Given the description of an element on the screen output the (x, y) to click on. 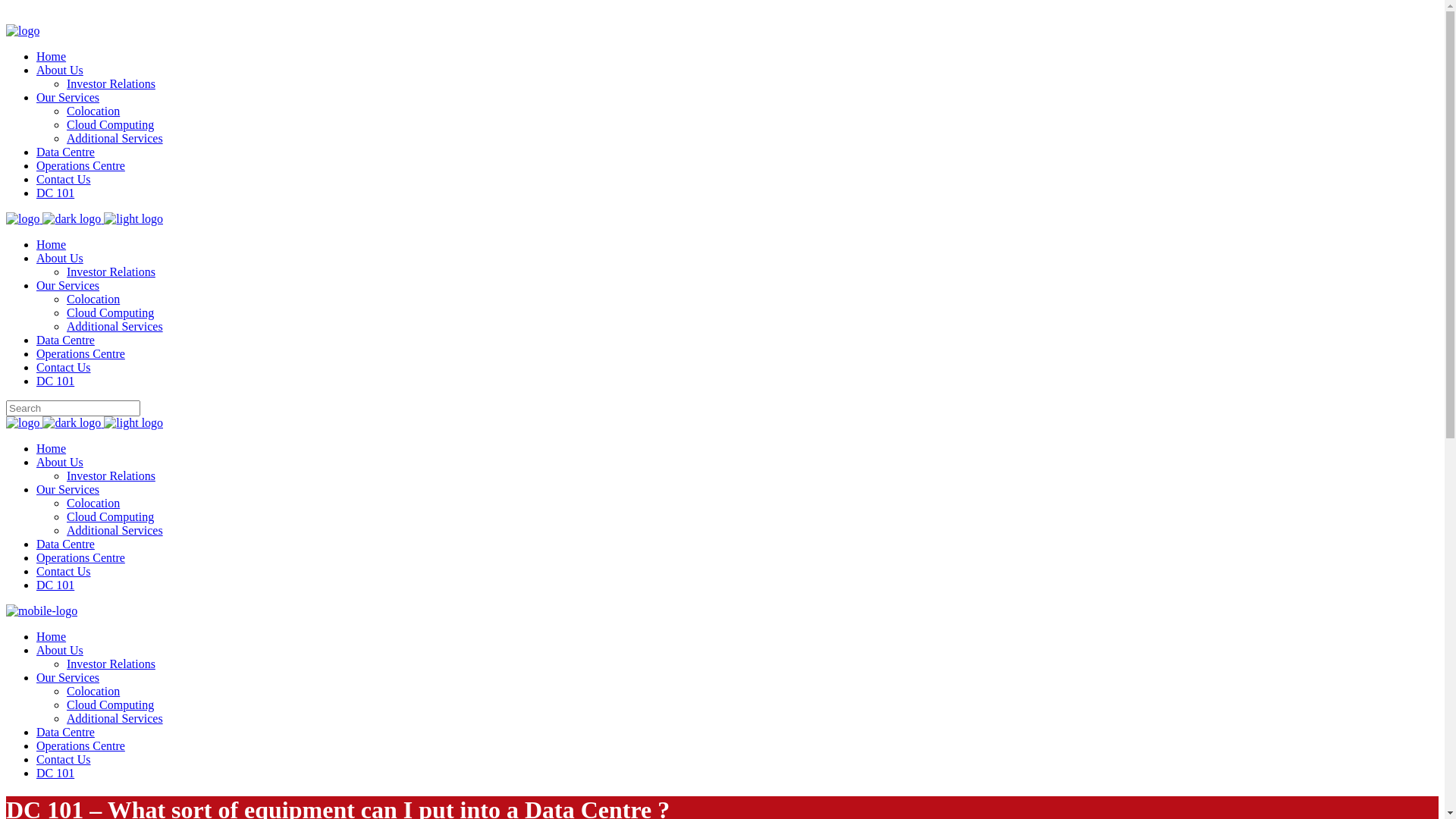
Additional Services Element type: text (114, 718)
Colocation Element type: text (92, 298)
Investor Relations Element type: text (110, 475)
Colocation Element type: text (92, 502)
Cloud Computing Element type: text (109, 704)
Contact Us Element type: text (63, 759)
Home Element type: text (50, 56)
Home Element type: text (50, 636)
Additional Services Element type: text (114, 326)
Additional Services Element type: text (114, 137)
About Us Element type: text (59, 257)
Operations Centre Element type: text (80, 165)
Data Centre Element type: text (65, 339)
Our Services Element type: text (67, 677)
Contact Us Element type: text (63, 570)
Colocation Element type: text (92, 690)
DC 101 Element type: text (55, 772)
About Us Element type: text (59, 461)
Contact Us Element type: text (63, 178)
Investor Relations Element type: text (110, 271)
Operations Centre Element type: text (80, 353)
Colocation Element type: text (92, 110)
Home Element type: text (50, 448)
Cloud Computing Element type: text (109, 124)
About Us Element type: text (59, 649)
Our Services Element type: text (67, 489)
Cloud Computing Element type: text (109, 312)
Our Services Element type: text (67, 97)
DC 101 Element type: text (55, 380)
DC 101 Element type: text (55, 192)
Data Centre Element type: text (65, 731)
Investor Relations Element type: text (110, 83)
About Us Element type: text (59, 69)
Operations Centre Element type: text (80, 557)
Investor Relations Element type: text (110, 663)
DC 101 Element type: text (55, 584)
Data Centre Element type: text (65, 543)
Our Services Element type: text (67, 285)
Data Centre Element type: text (65, 151)
Cloud Computing Element type: text (109, 516)
Operations Centre Element type: text (80, 745)
Home Element type: text (50, 244)
Contact Us Element type: text (63, 366)
Additional Services Element type: text (114, 530)
